Given the description of an element on the screen output the (x, y) to click on. 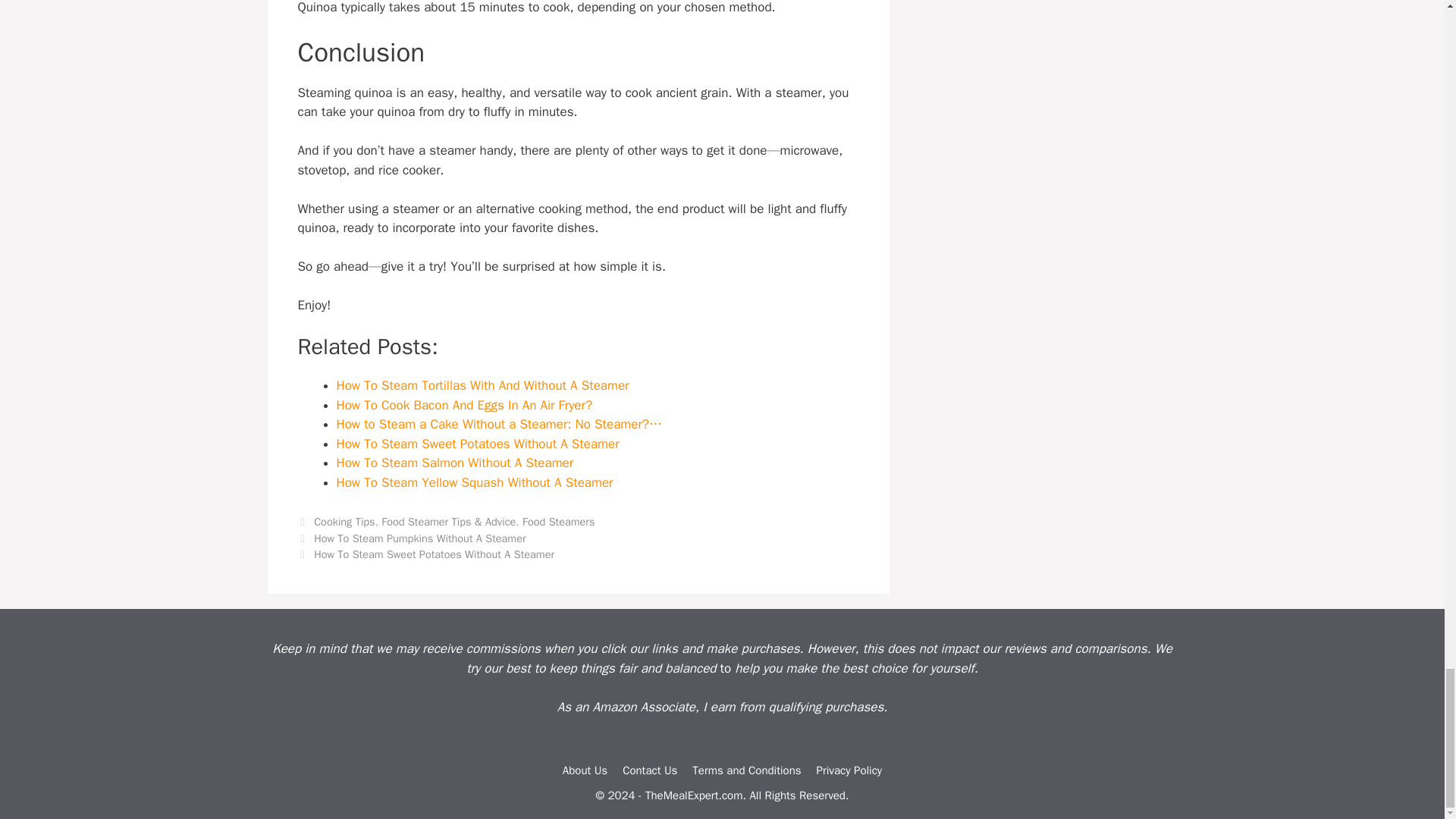
How To Cook Bacon And Eggs In An Air Fryer? (464, 405)
How To Steam Sweet Potatoes Without A Steamer (478, 443)
How To Steam Tortillas With And Without A Steamer (482, 385)
